Given the description of an element on the screen output the (x, y) to click on. 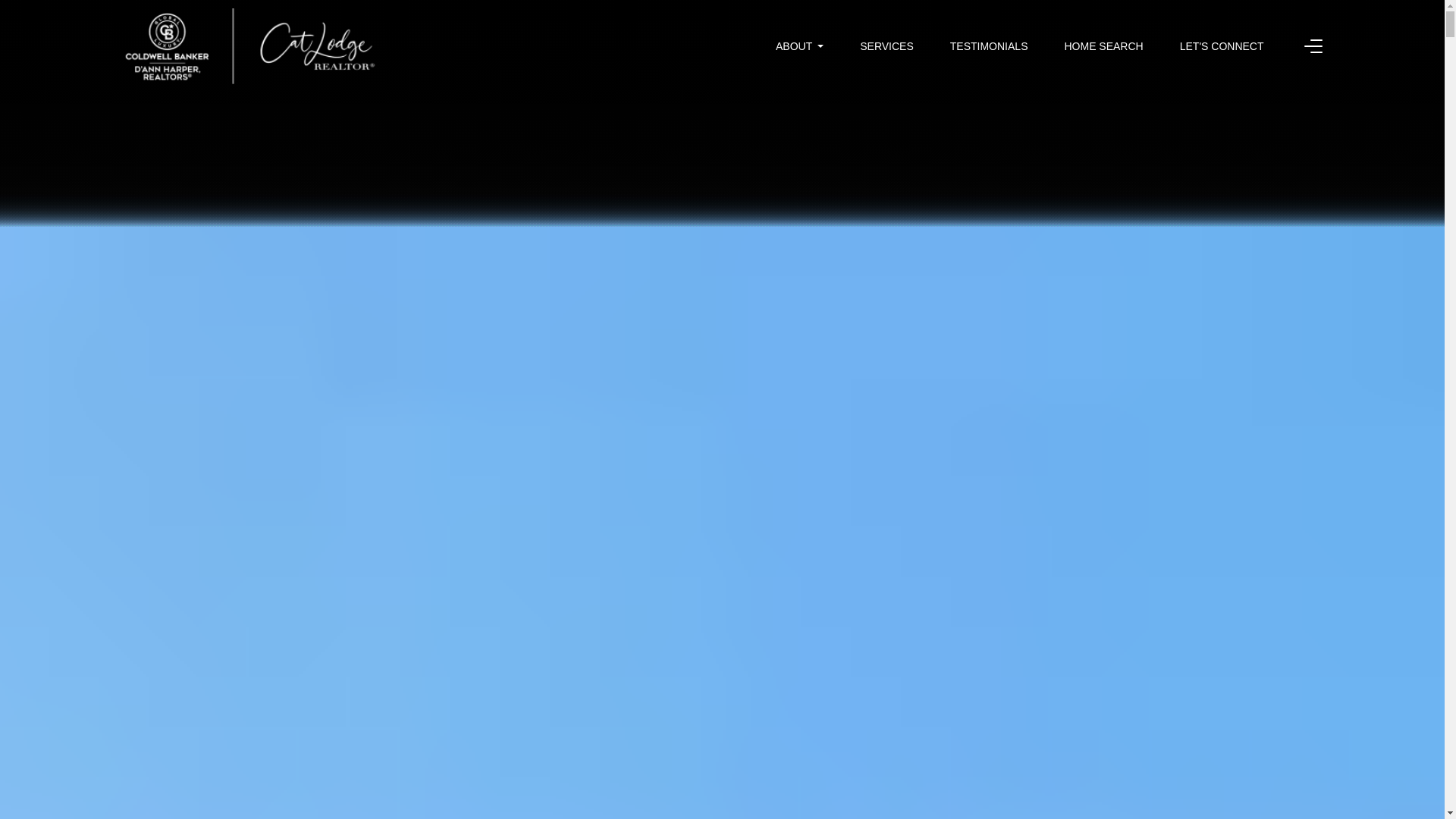
LET'S CONNECT (1221, 46)
ABOUT (800, 46)
TESTIMONIALS (988, 46)
SERVICES (887, 46)
HOME SEARCH (1103, 46)
